Given the description of an element on the screen output the (x, y) to click on. 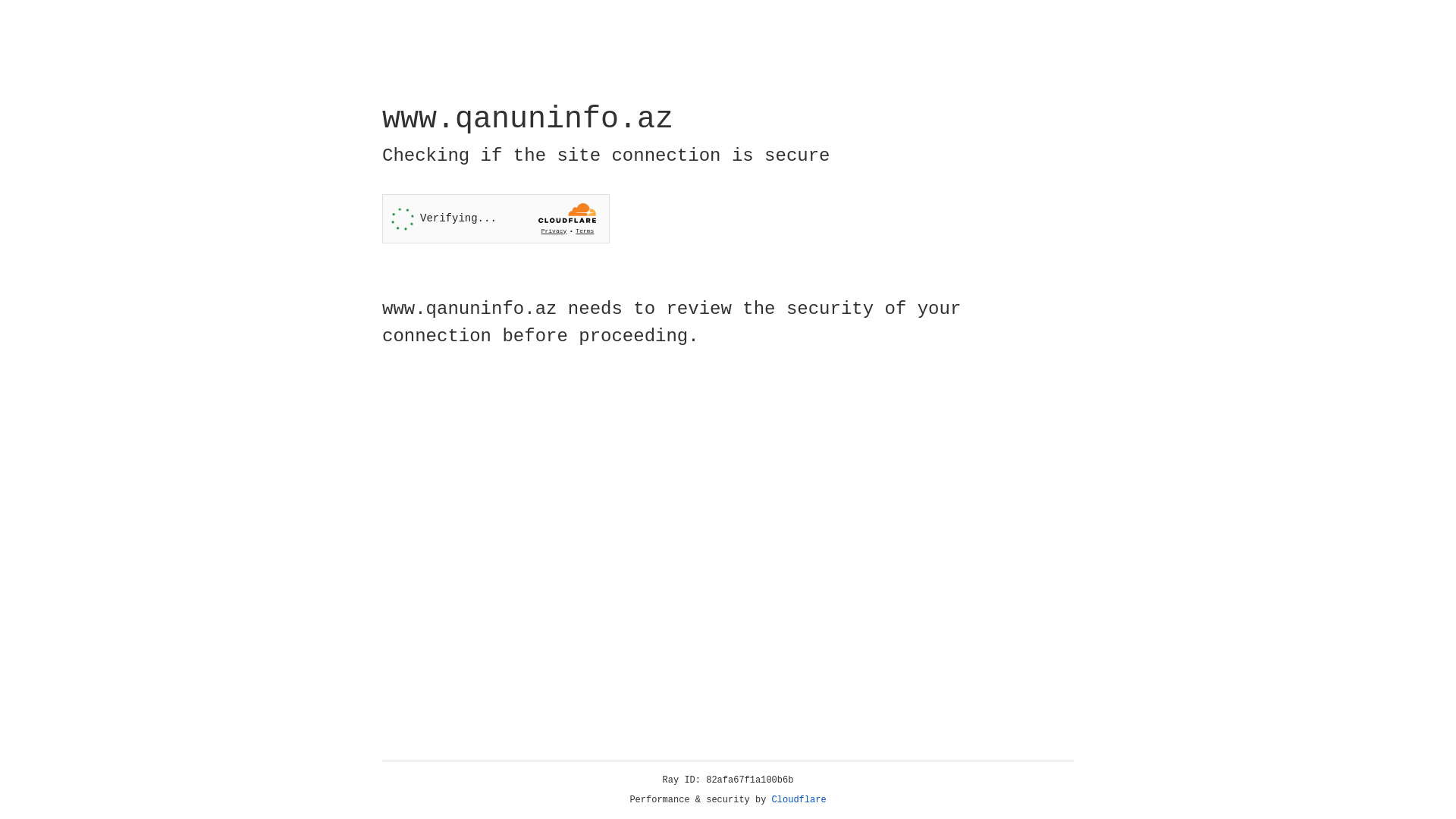
Widget containing a Cloudflare security challenge Element type: hover (495, 218)
Cloudflare Element type: text (798, 799)
